Given the description of an element on the screen output the (x, y) to click on. 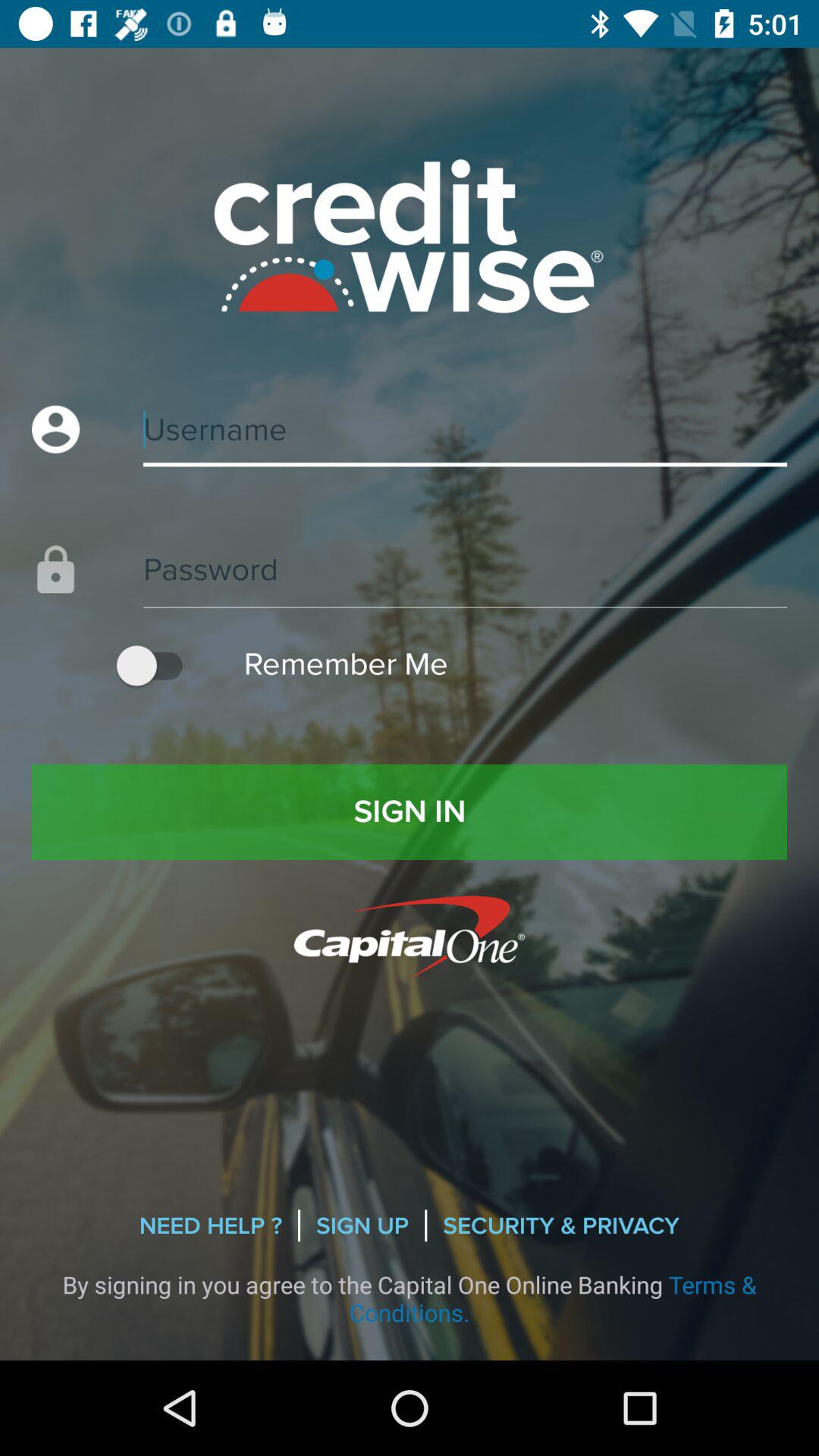
swipe until the sign up icon (362, 1225)
